Given the description of an element on the screen output the (x, y) to click on. 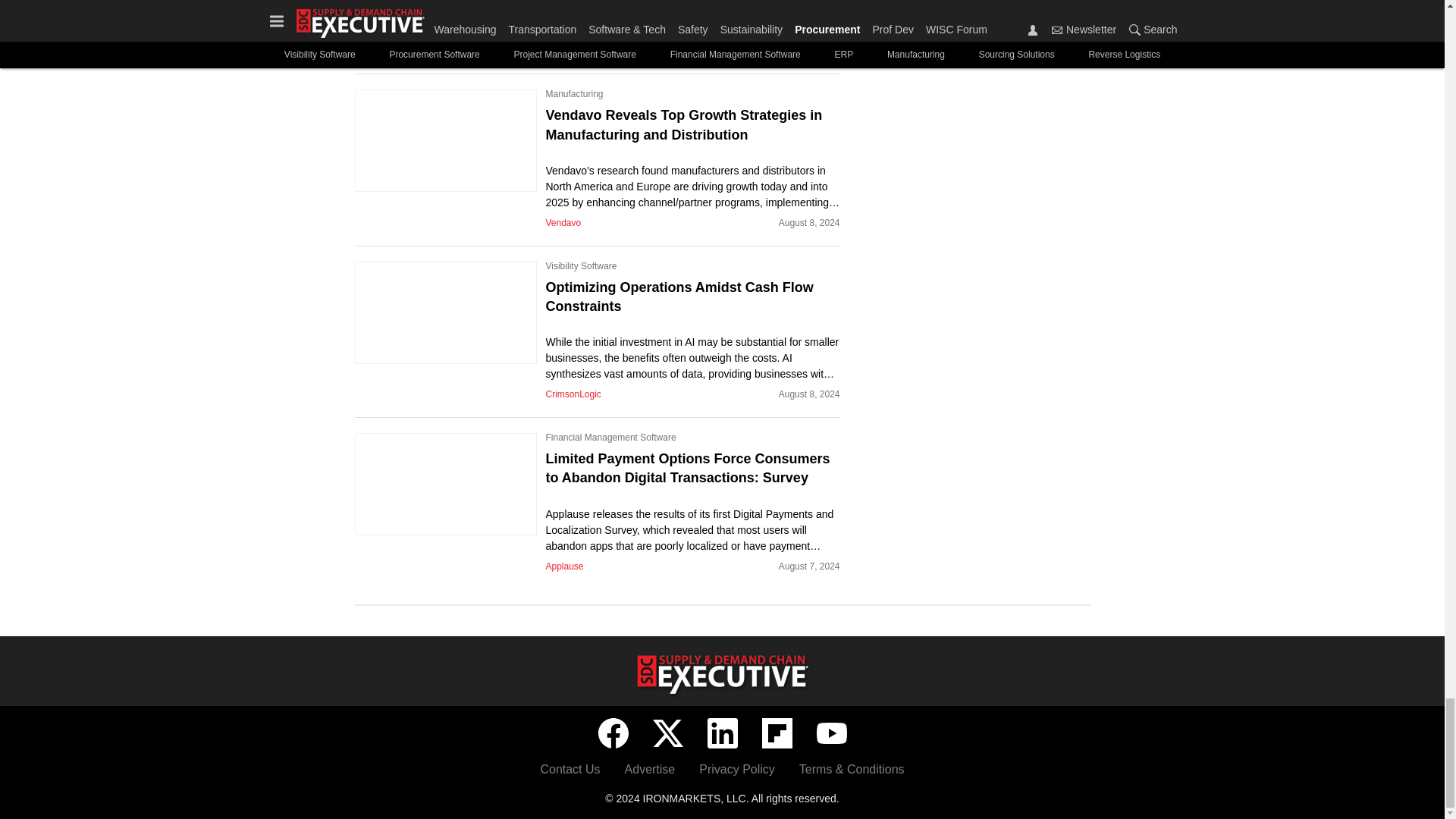
Flipboard icon (776, 733)
Twitter X icon (667, 733)
Facebook icon (611, 733)
YouTube icon (830, 733)
LinkedIn icon (721, 733)
